Given the description of an element on the screen output the (x, y) to click on. 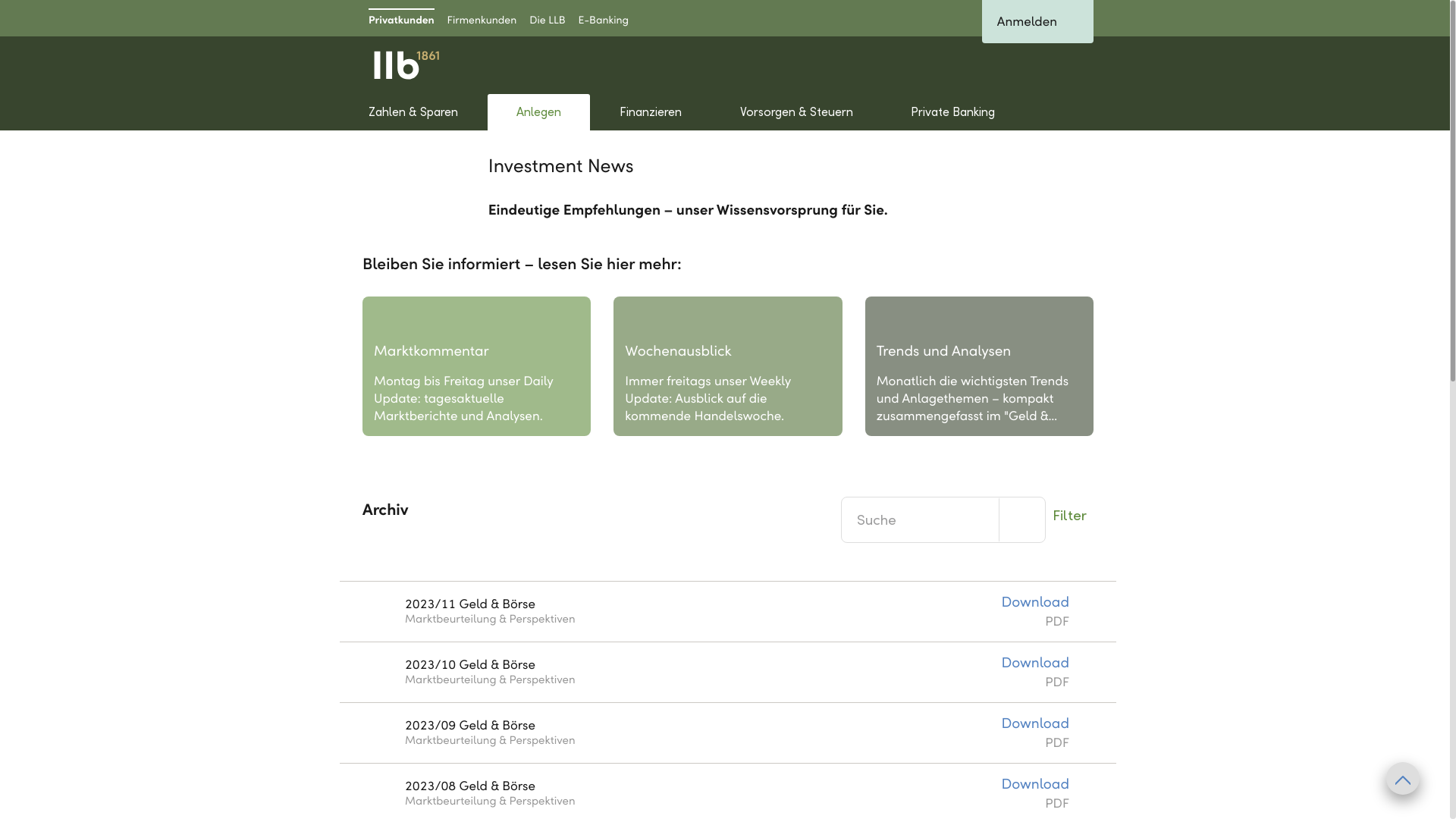
Anrufen Element type: text (1071, 64)
Filter Element type: text (1069, 514)
E-Banking Element type: text (603, 18)
Anmelden Element type: text (1037, 21)
Vorsorgen & Steuern Element type: text (795, 112)
Finanzieren Element type: text (649, 112)
Hilfe Element type: text (983, 64)
Privatkunden Element type: text (401, 18)
Suche Element type: text (1027, 64)
Download Element type: text (1035, 724)
Download Element type: text (1035, 784)
Private Banking Element type: text (952, 112)
Download Element type: text (1035, 663)
Anlegen Element type: text (538, 112)
Download Element type: text (1035, 602)
Die LLB Element type: text (547, 18)
Firmenkunden Element type: text (481, 18)
Zahlen & Sparen Element type: text (413, 112)
